Given the description of an element on the screen output the (x, y) to click on. 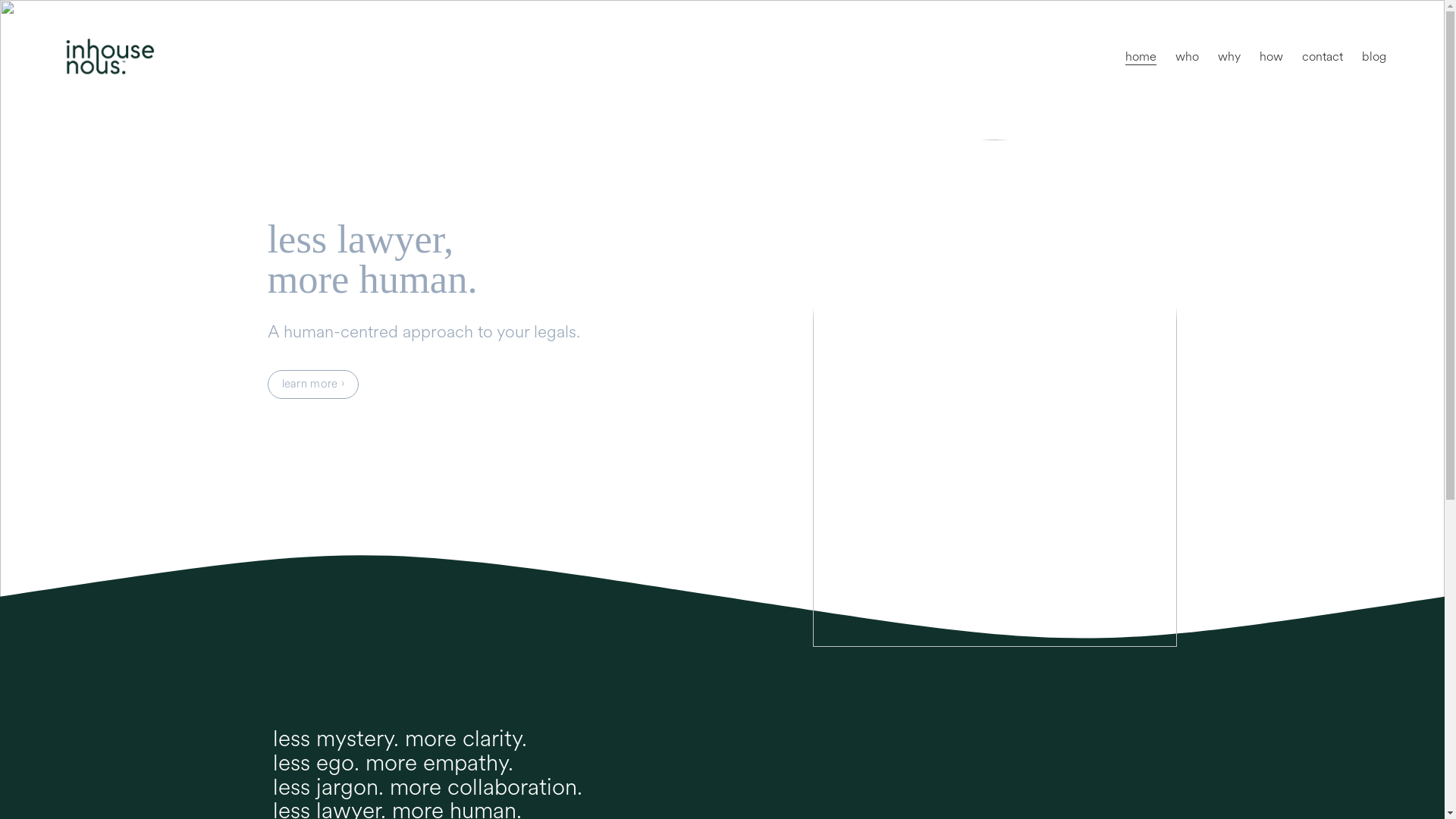
who Element type: text (1186, 56)
contact Element type: text (1322, 56)
how Element type: text (1271, 56)
blog Element type: text (1373, 56)
why Element type: text (1228, 56)
home Element type: text (1140, 56)
